Given the description of an element on the screen output the (x, y) to click on. 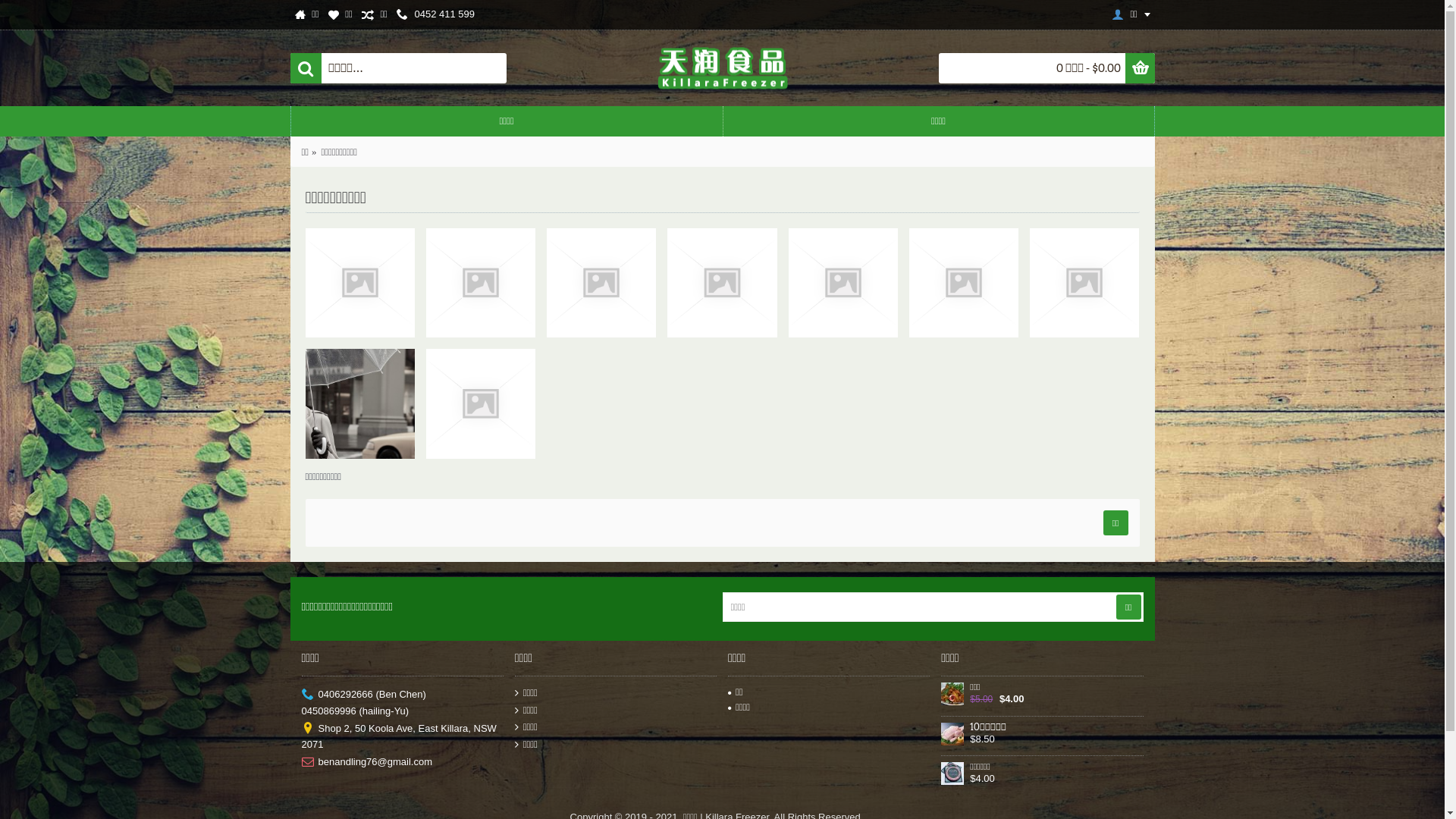
0406292666 (Ben Chen)
0450869996 (hailing-Yu) Element type: text (402, 701)
benandling76@gmail.com Element type: text (402, 762)
0452 411 599 Element type: text (435, 15)
